Given the description of an element on the screen output the (x, y) to click on. 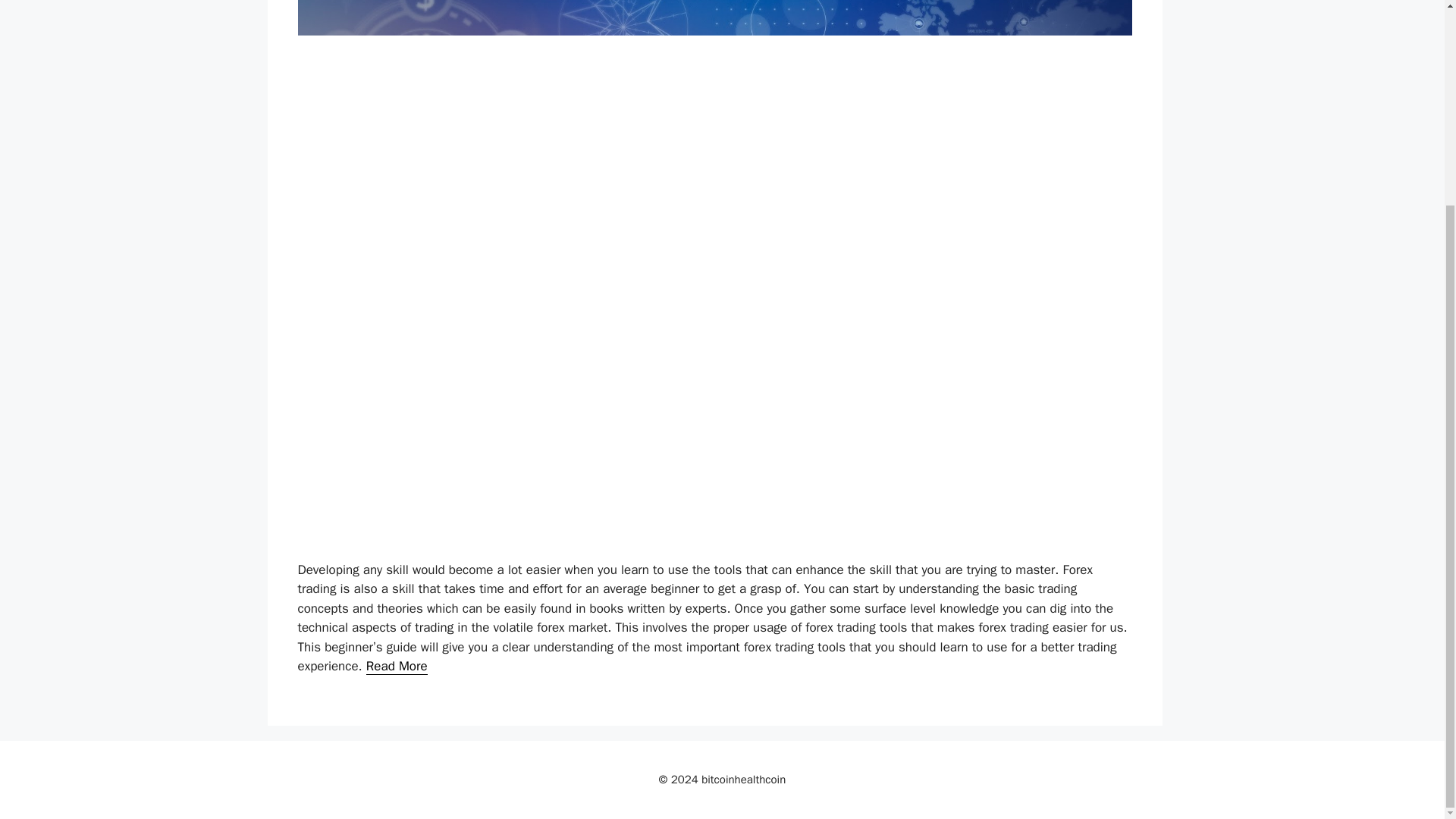
Read More (397, 666)
